Given the description of an element on the screen output the (x, y) to click on. 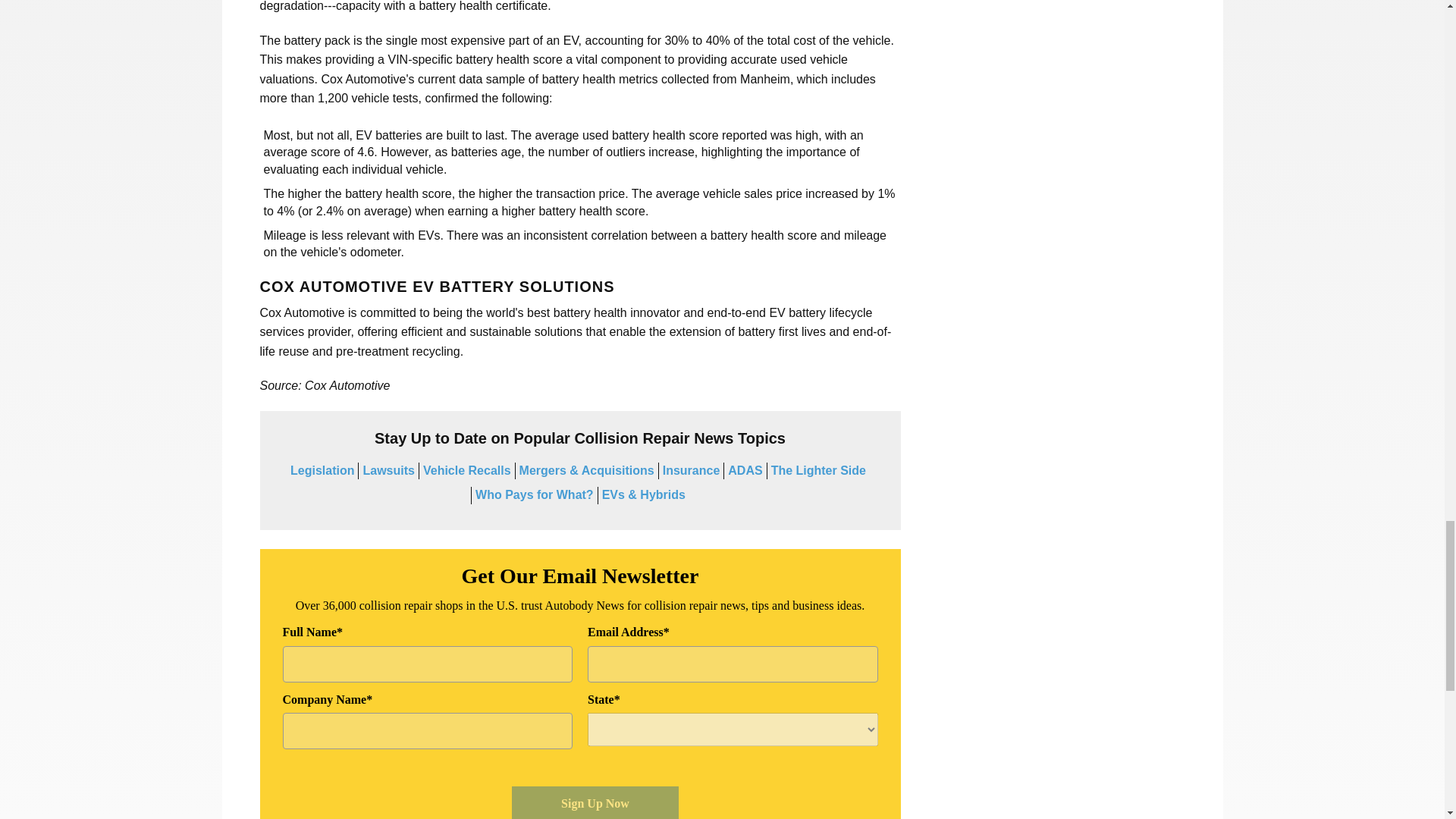
Lawsuits (387, 470)
Legislation (321, 470)
Insurance (691, 470)
Vehicle Recalls (467, 470)
The Lighter Side (818, 470)
Who Pays for What? (535, 494)
ADAS (744, 470)
